Given the description of an element on the screen output the (x, y) to click on. 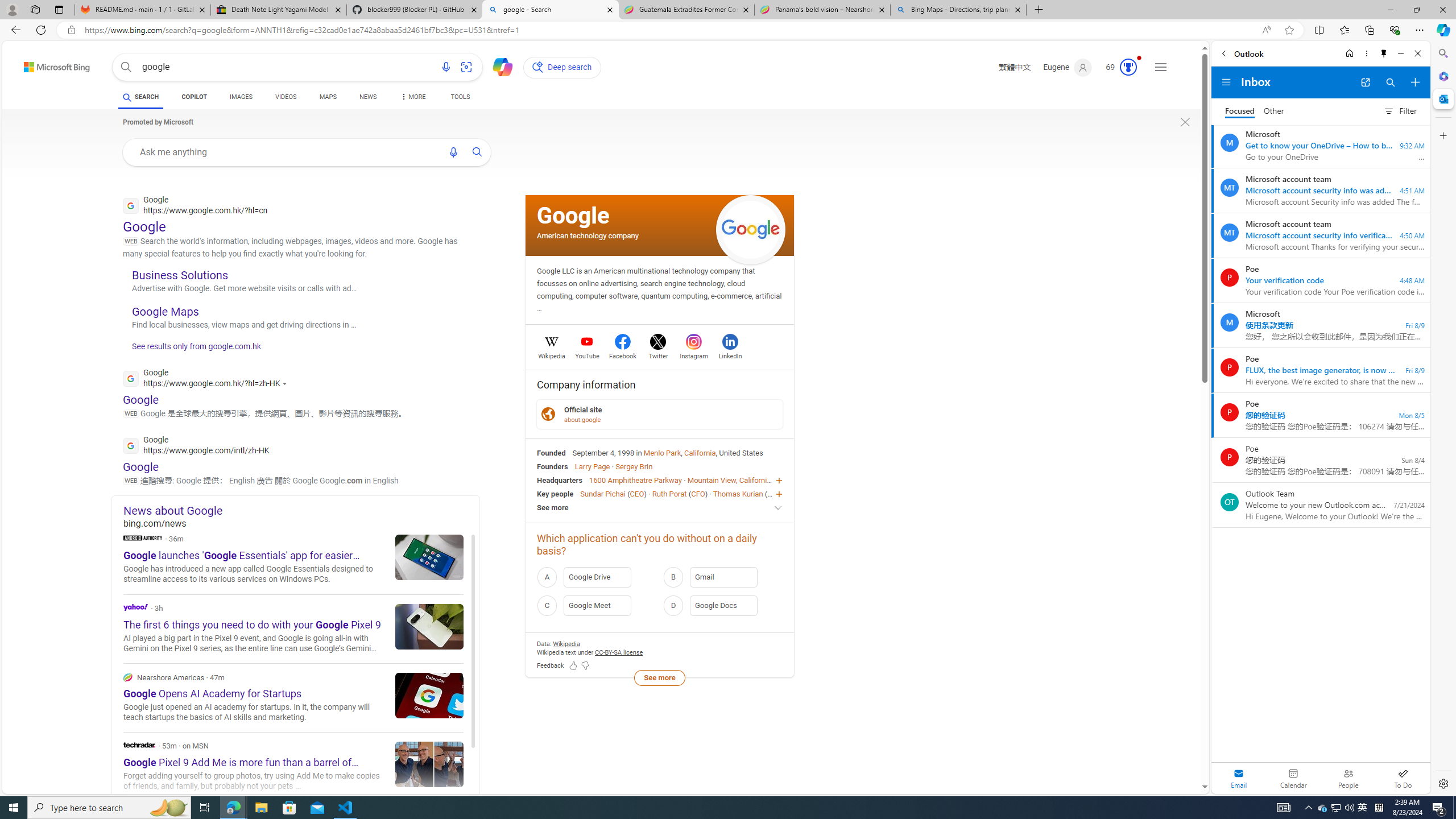
Add this page to favorites (Ctrl+D) (1289, 29)
SEARCH (140, 96)
D Google Docs (722, 605)
People (1347, 777)
New Tab (1038, 9)
Home (1348, 53)
Focused Inbox, toggle to go to Other Inbox (1254, 110)
Founders (552, 465)
Actions for this site (286, 383)
Compose new mail (1414, 82)
See more images of Google (751, 229)
AutomationID: rh_meter (1128, 66)
AutomationID: mfa_root (1161, 752)
